Given the description of an element on the screen output the (x, y) to click on. 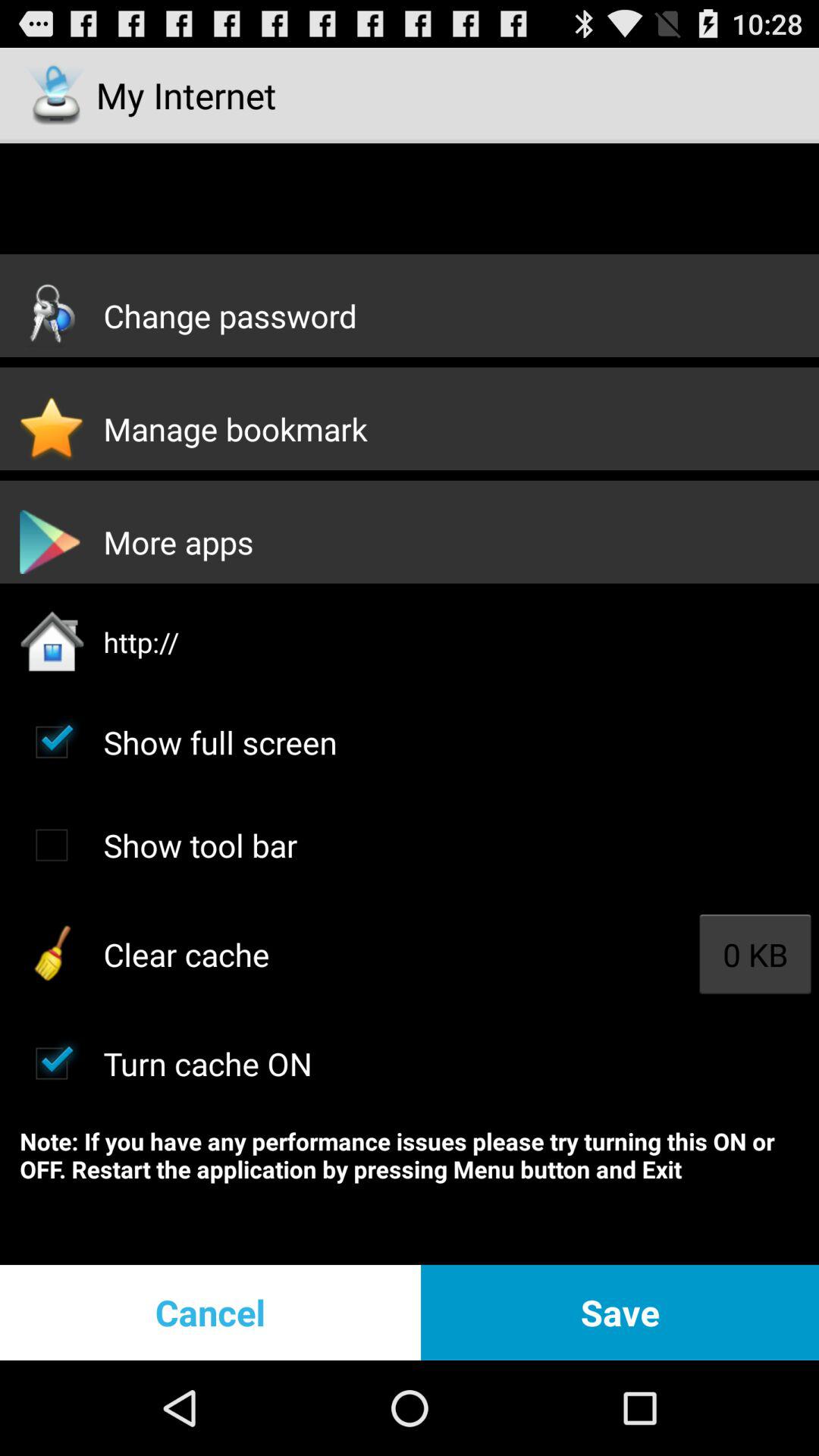
full screen toggle (51, 742)
